Given the description of an element on the screen output the (x, y) to click on. 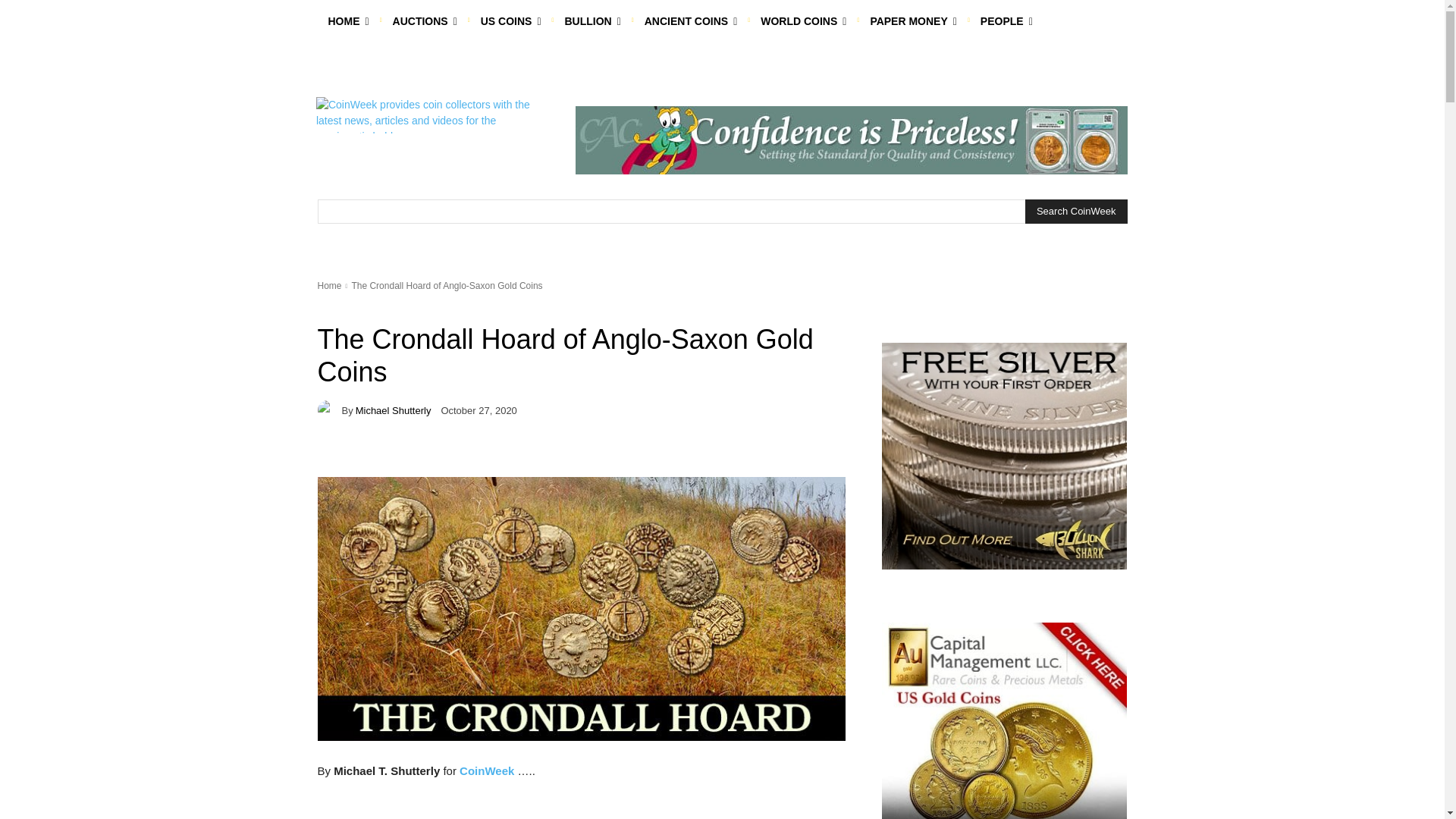
AUCTIONS (424, 21)
HOME (347, 21)
Michael Shutterly (328, 410)
